Given the description of an element on the screen output the (x, y) to click on. 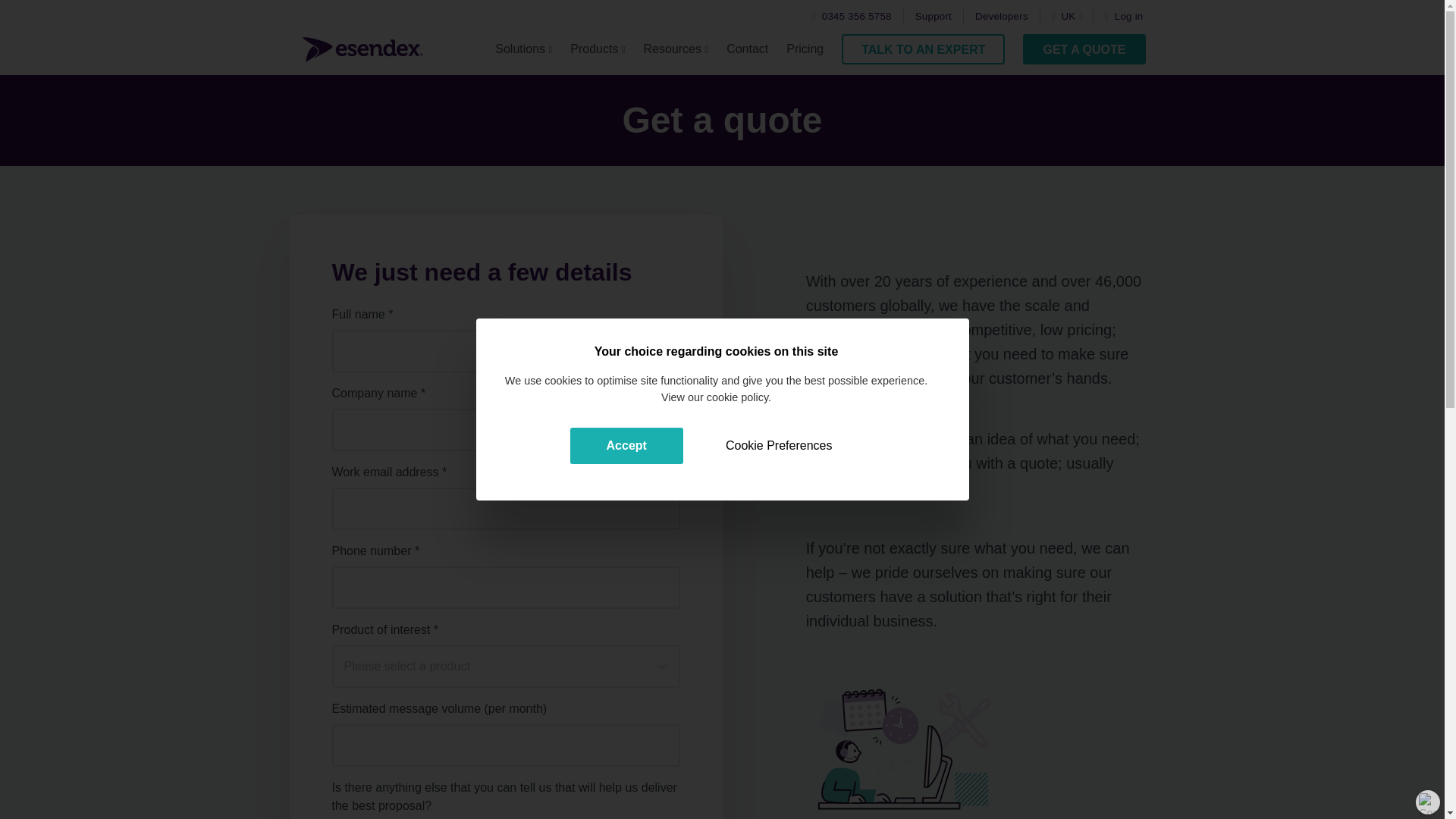
Log in (1123, 16)
UK (1070, 16)
0345 356 5758 (851, 16)
Accept (626, 445)
Developers (1001, 16)
Cookie Preferences (778, 445)
cookie policy (737, 397)
Support (933, 16)
